Given the description of an element on the screen output the (x, y) to click on. 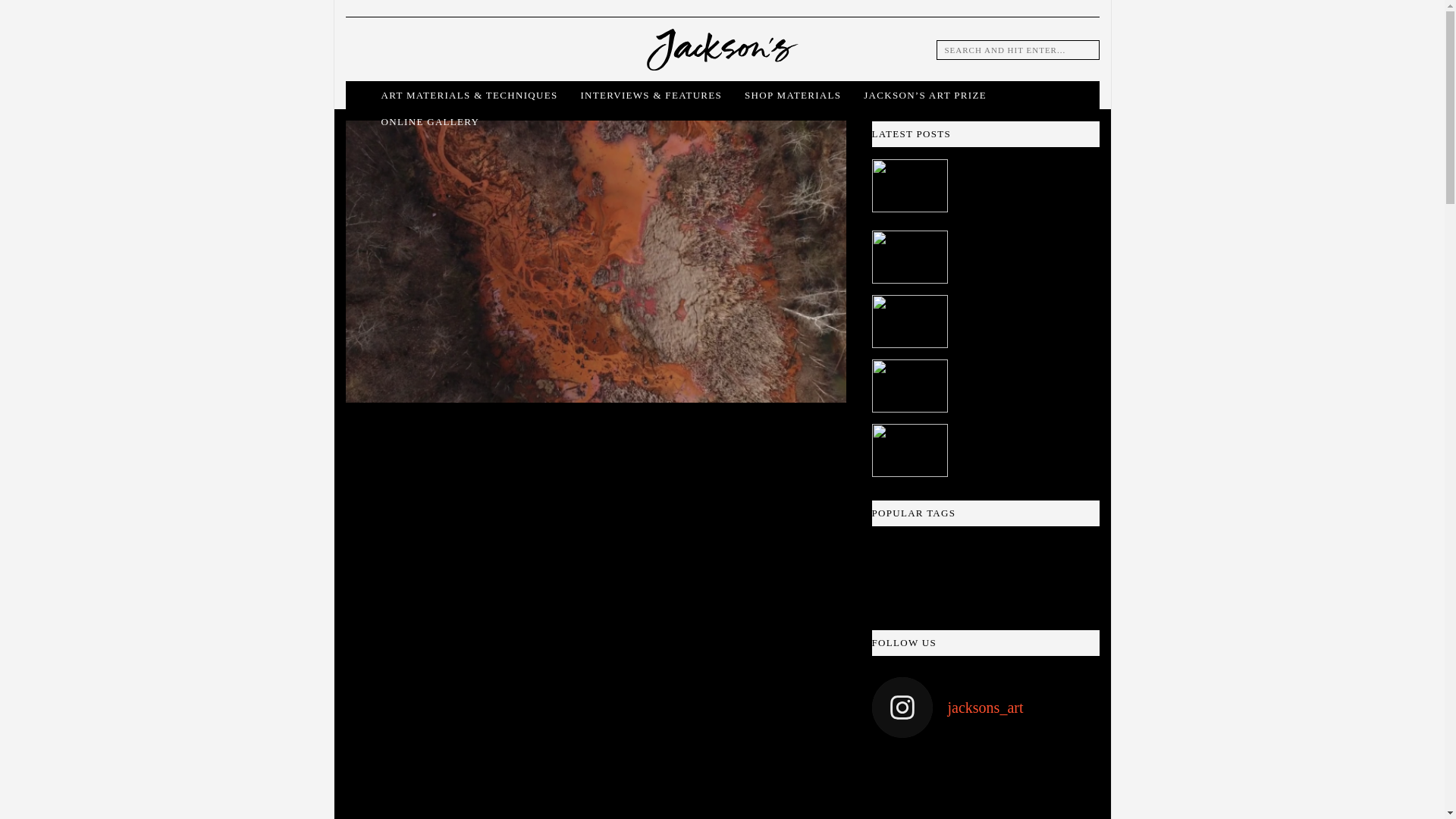
Gamblin (753, 507)
Tegen Hager-Suart (468, 457)
SHOP MATERIALS (792, 94)
ONLINE GALLERY (429, 121)
Posts by Tegen Hager-Suart (468, 457)
Permanent Link: Barbara Zankovich: Process of Control (1012, 309)
the Toxic Art Kickstarter Campaign (664, 664)
Kickstarter (792, 570)
Permanent Link: Artist Insights: Will Rochfort (1012, 244)
